Given the description of an element on the screen output the (x, y) to click on. 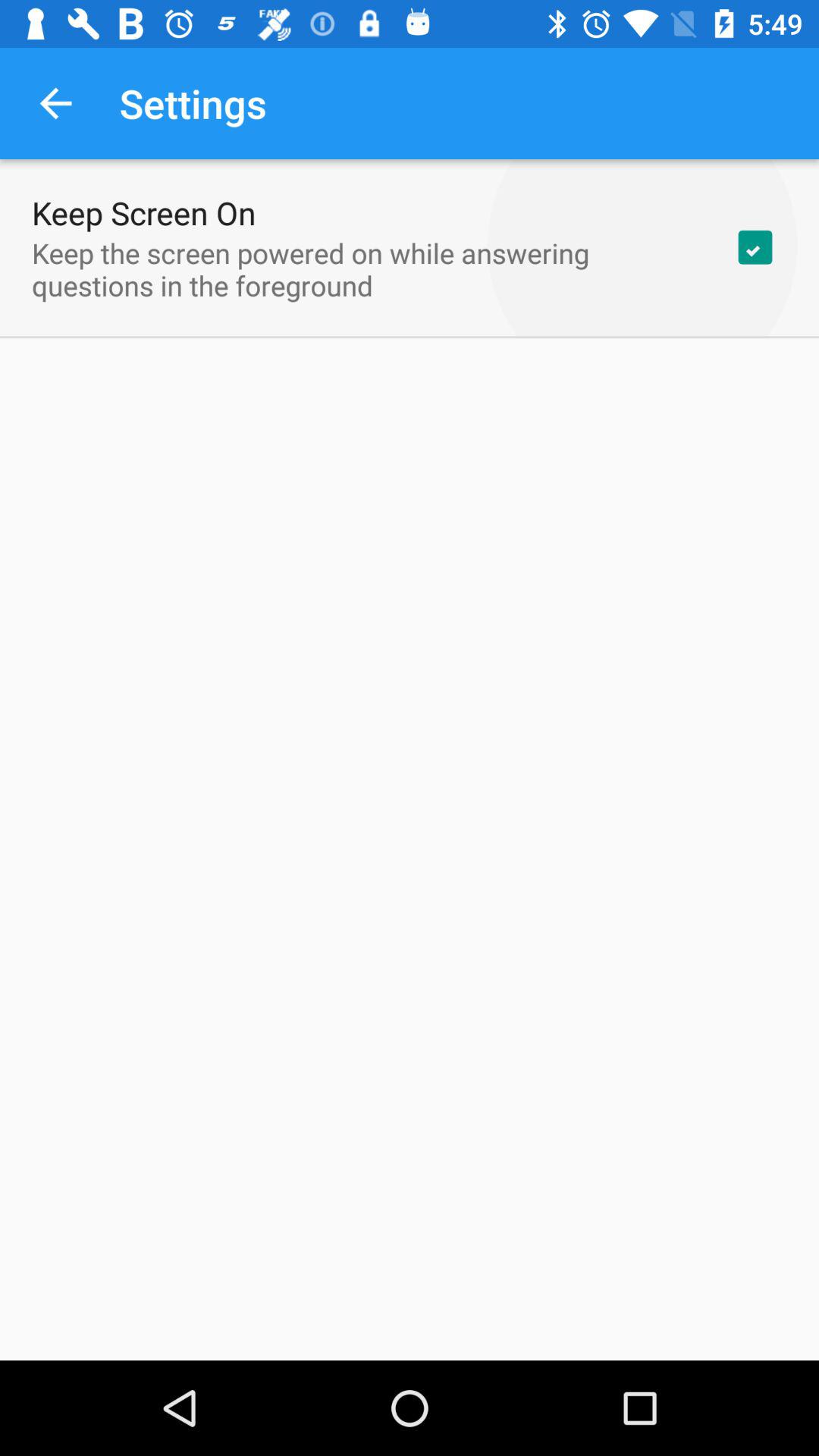
select icon next to keep the screen (755, 247)
